Given the description of an element on the screen output the (x, y) to click on. 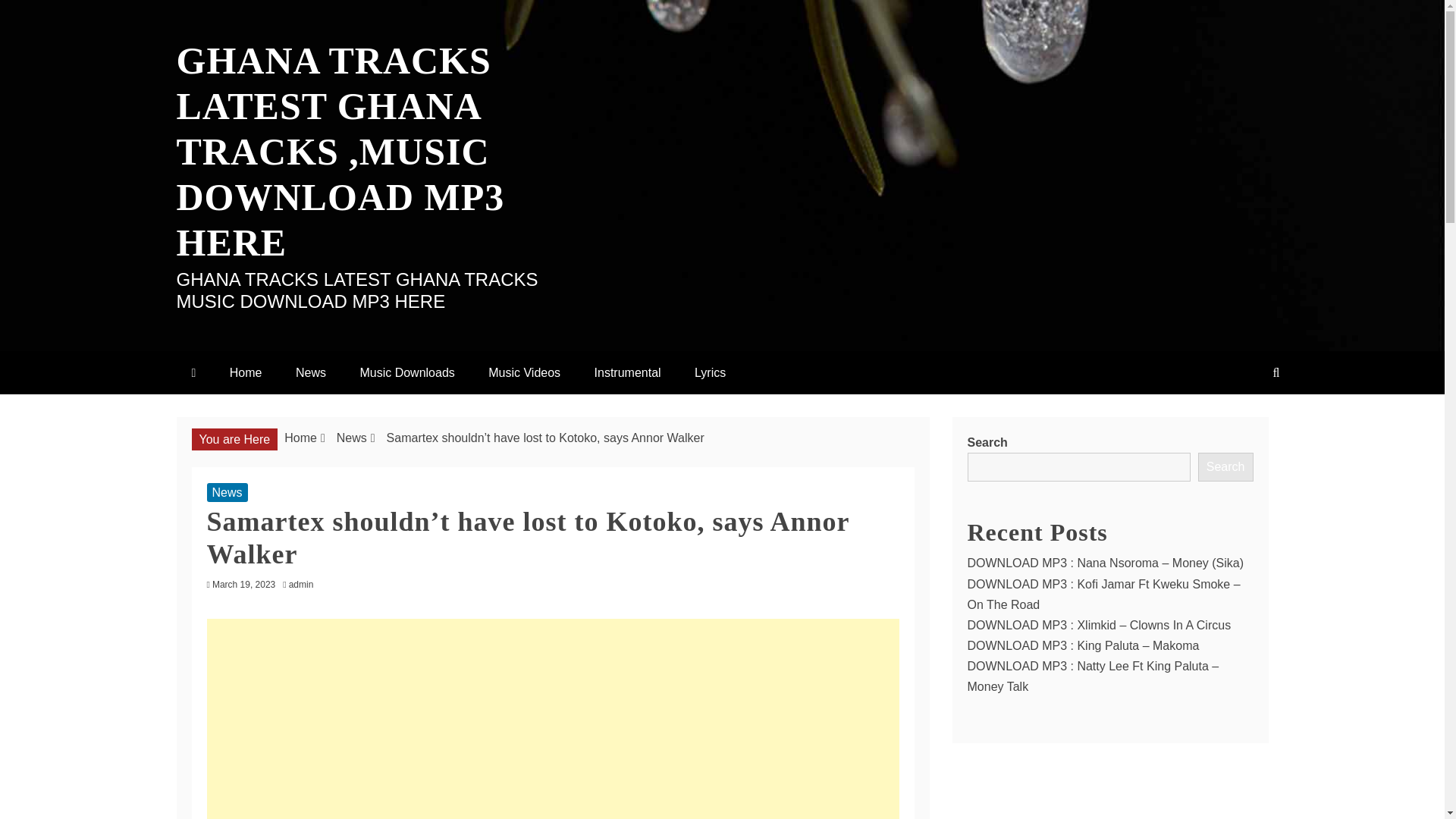
Instrumental (628, 372)
Home (300, 437)
Search (1225, 466)
Lyrics (710, 372)
admin (304, 584)
Home (246, 372)
News (351, 437)
News (310, 372)
GHANA TRACKS LATEST GHANA TRACKS ,MUSIC DOWNLOAD MP3 HERE (339, 151)
